Given the description of an element on the screen output the (x, y) to click on. 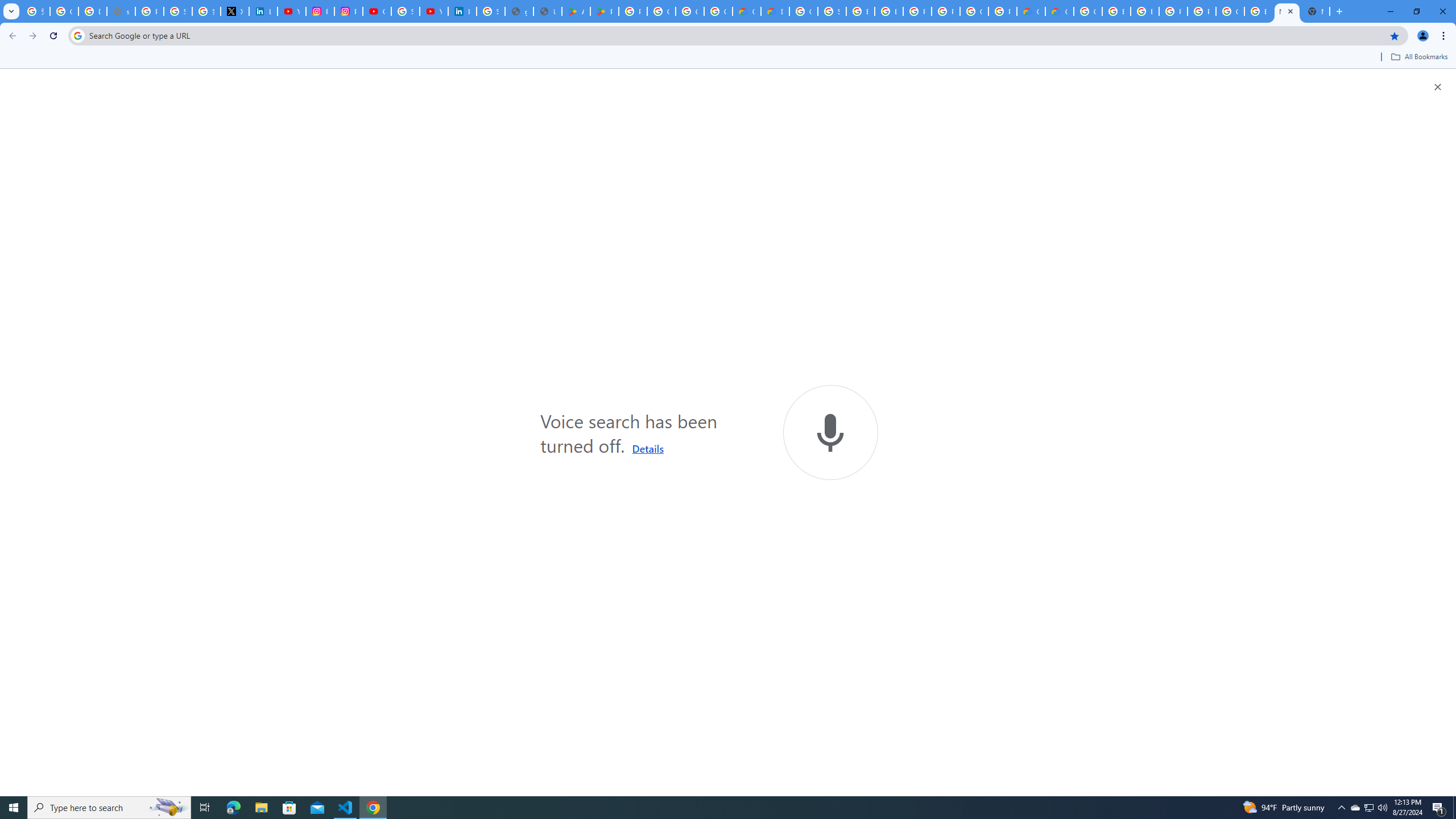
Customer Care | Google Cloud (746, 11)
Google Cloud Platform (973, 11)
New Tab (1315, 11)
